Given the description of an element on the screen output the (x, y) to click on. 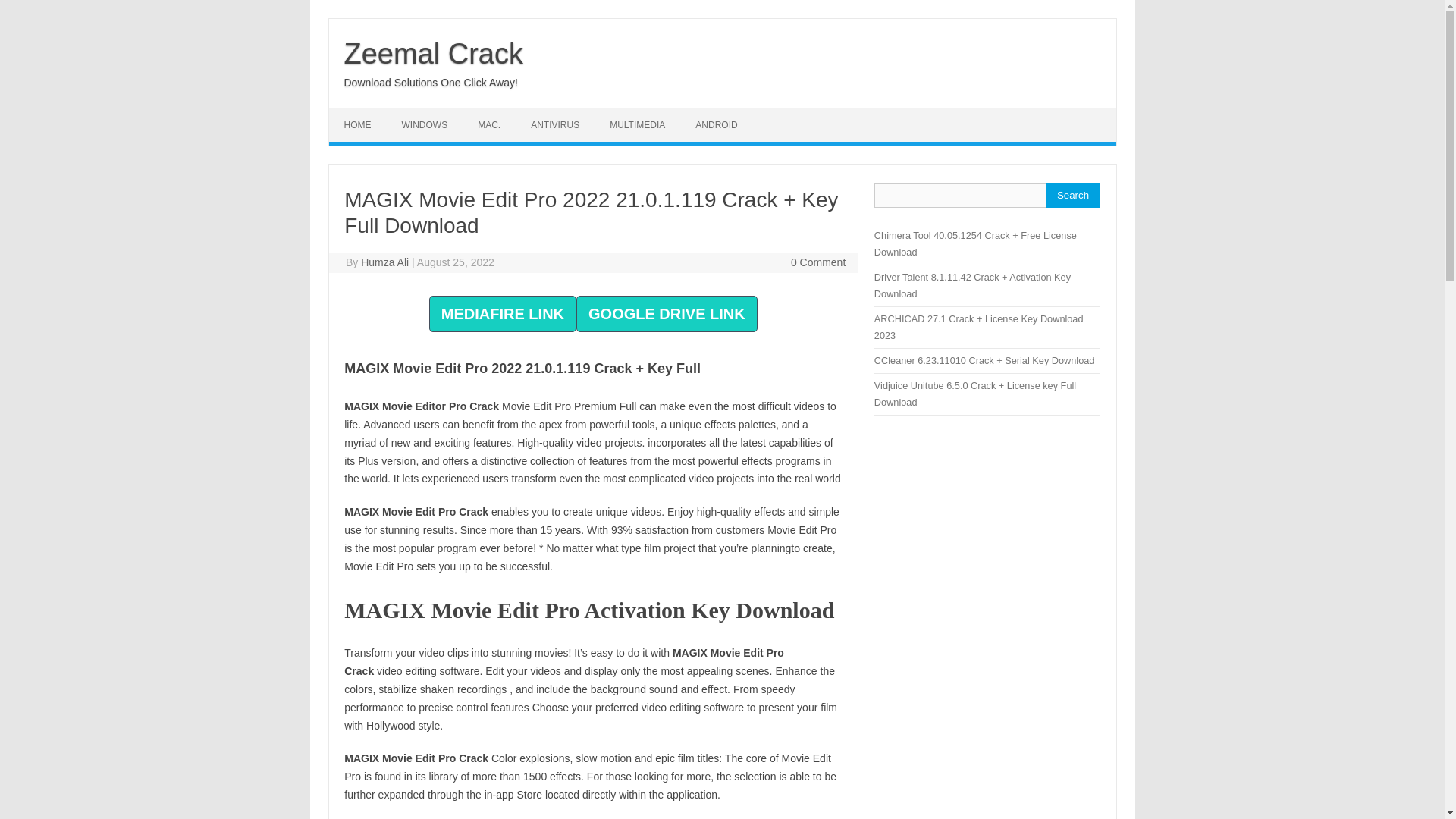
0 Comment (817, 262)
GOOGLE DRIVE LINK (666, 313)
Zeemal Crack (433, 53)
ANDROID (715, 124)
MULTIMEDIA (636, 124)
MEDIAFIRE LINK (502, 313)
GOOGLE DRIVE LINK (666, 315)
MAC. (489, 124)
Search (1072, 195)
ANTIVIRUS (554, 124)
Humza Ali (385, 262)
MEDIAFIRE LINK (502, 315)
WINDOWS (425, 124)
HOME (358, 124)
